Given the description of an element on the screen output the (x, y) to click on. 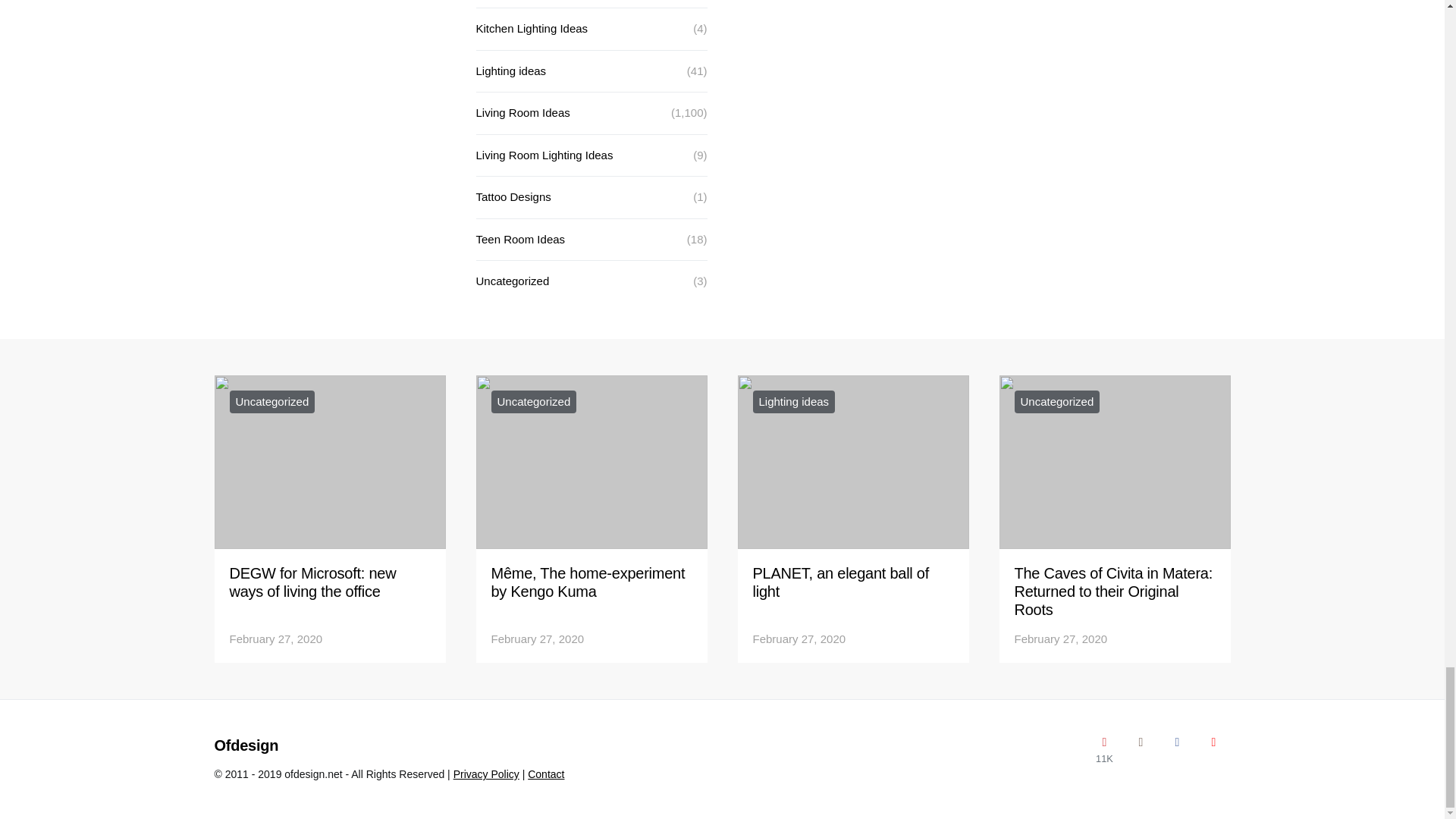
PLANET, an elegant ball of light (840, 582)
DEGW for Microsoft: new ways of living the office (312, 582)
